Given the description of an element on the screen output the (x, y) to click on. 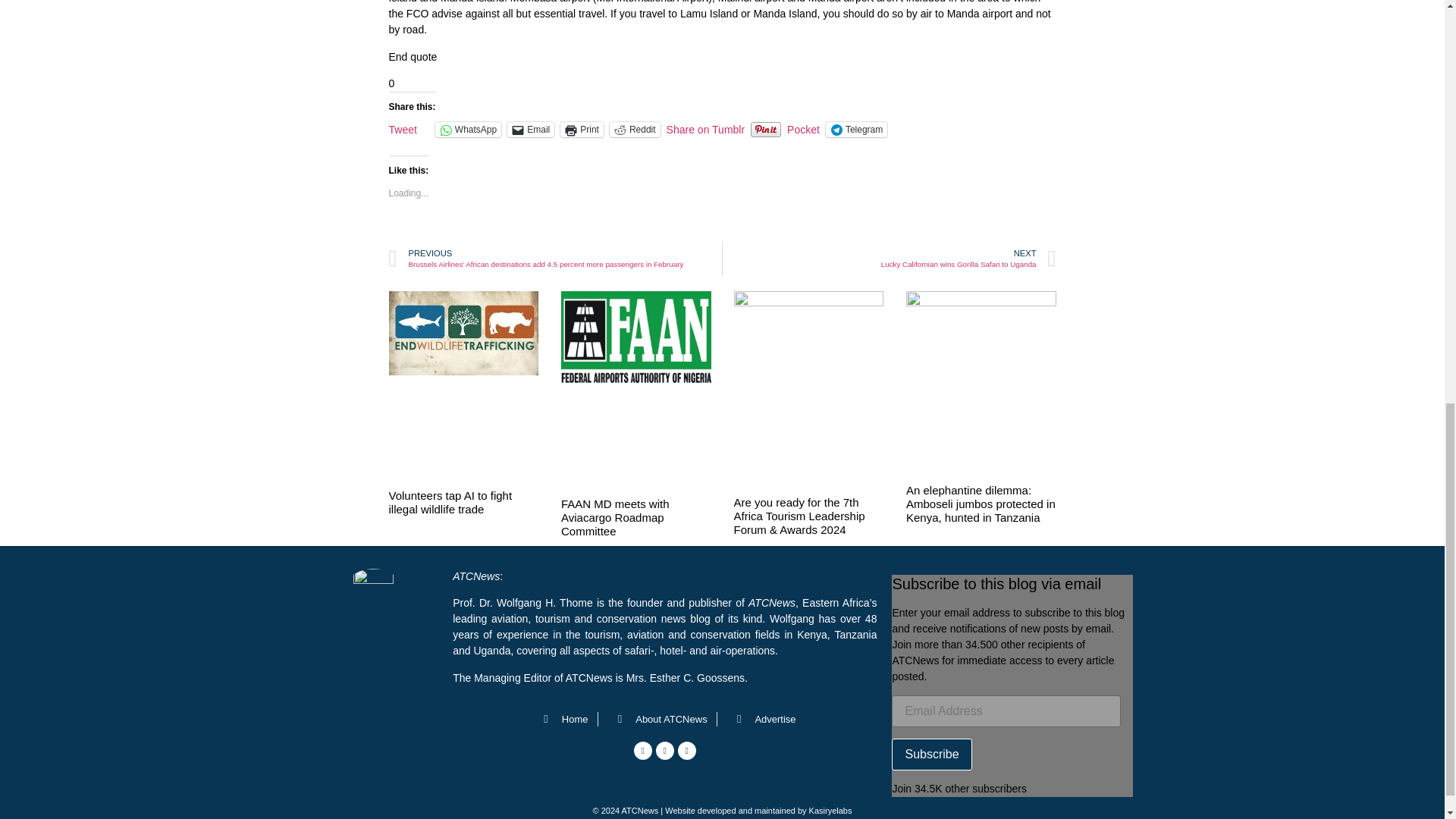
Click to share on Telegram (855, 129)
WhatsApp (467, 129)
Print (582, 129)
Telegram (855, 129)
Volunteers tap AI to fight illegal wildlife trade (450, 501)
FAAN MD meets with Aviacargo Roadmap Committee (614, 517)
About ATCNews (656, 719)
Email (530, 129)
Click to share on Reddit (635, 129)
asiryelabs (832, 809)
